Given the description of an element on the screen output the (x, y) to click on. 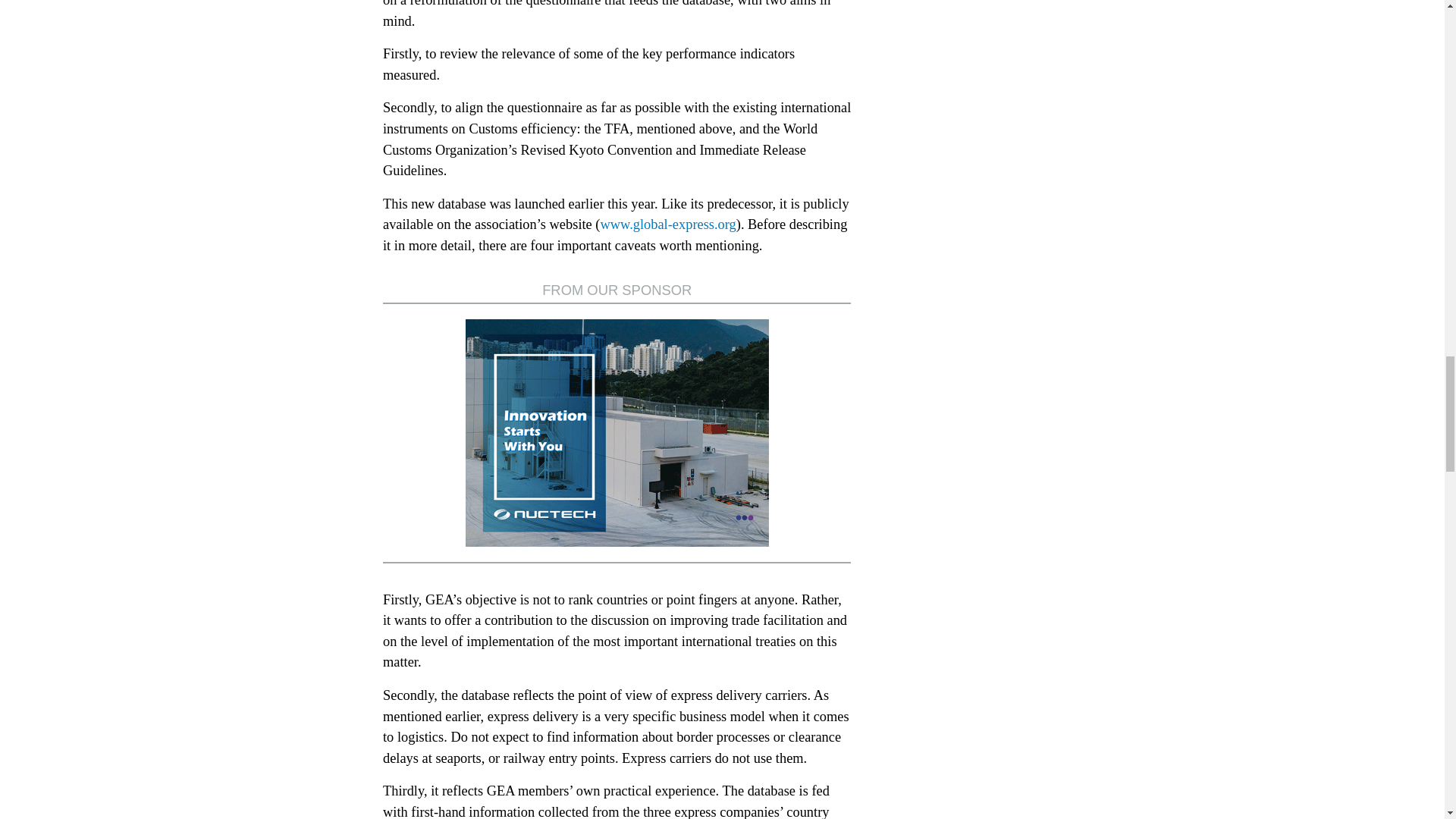
www.global-express.org (667, 224)
